Given the description of an element on the screen output the (x, y) to click on. 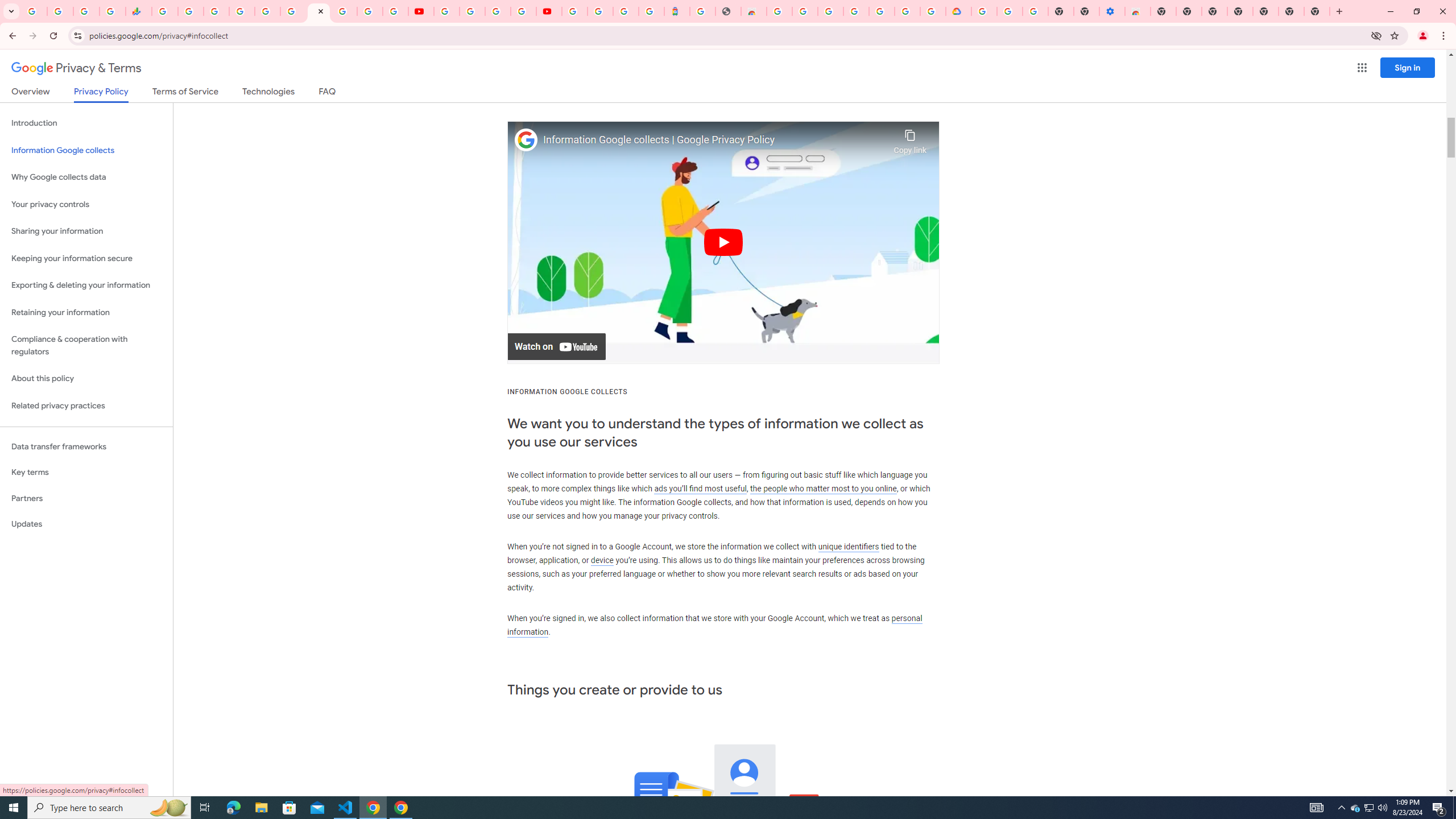
the people who matter most to you online (822, 488)
Privacy & Terms (76, 68)
Sign in - Google Accounts (574, 11)
Copy link (909, 139)
Google Account Help (472, 11)
Sign in - Google Accounts (600, 11)
Terms of Service (184, 93)
